Given the description of an element on the screen output the (x, y) to click on. 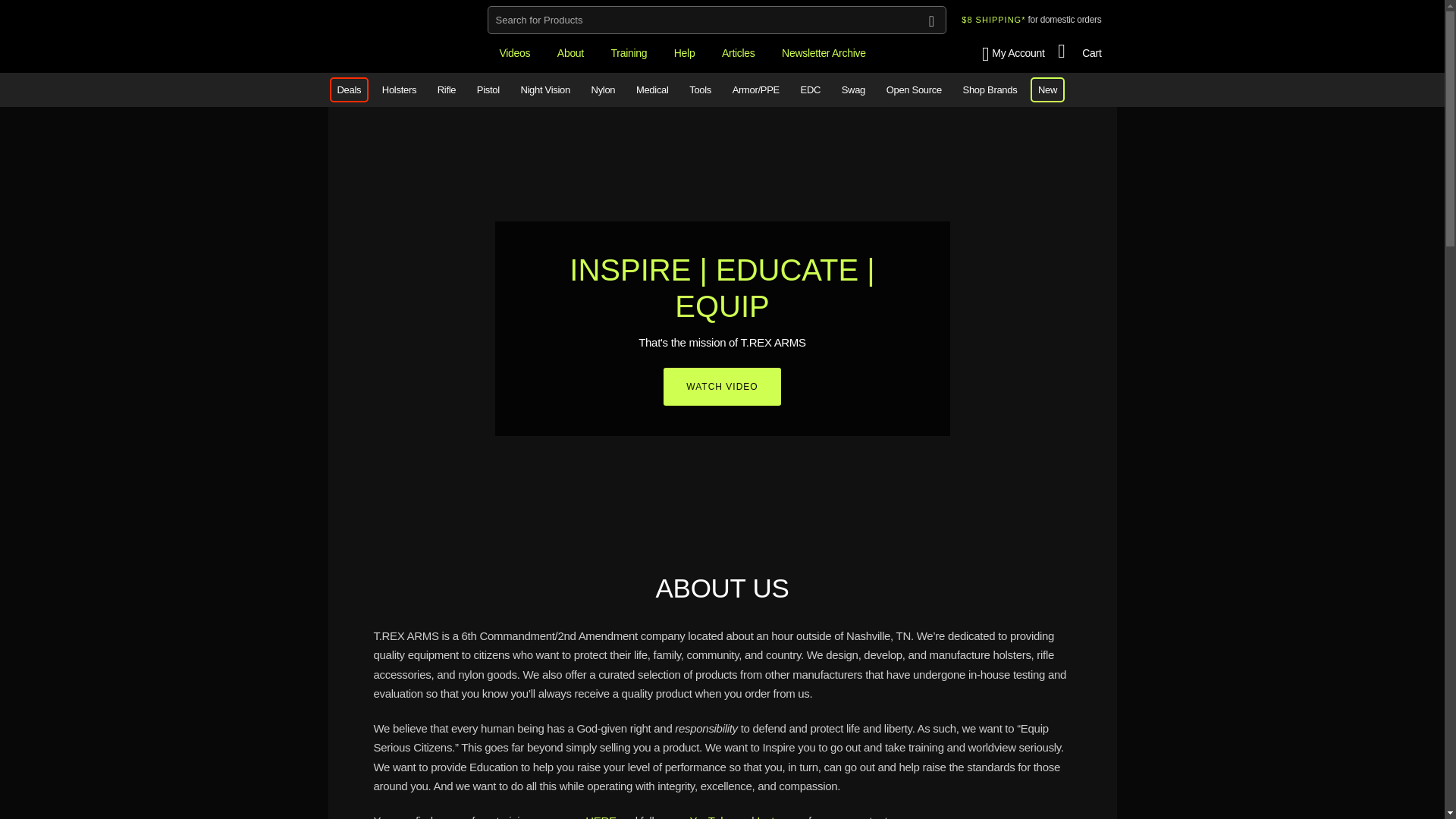
Help (684, 53)
About (569, 53)
Deals (348, 89)
Videos (513, 53)
About (569, 53)
Holsters (398, 89)
Articles (738, 53)
Videos (513, 53)
Help (684, 53)
Newsletter Archive (823, 53)
Deals (348, 89)
Rifle (446, 89)
Holsters (398, 89)
View your shopping cart (1079, 53)
Training (628, 53)
